Given the description of an element on the screen output the (x, y) to click on. 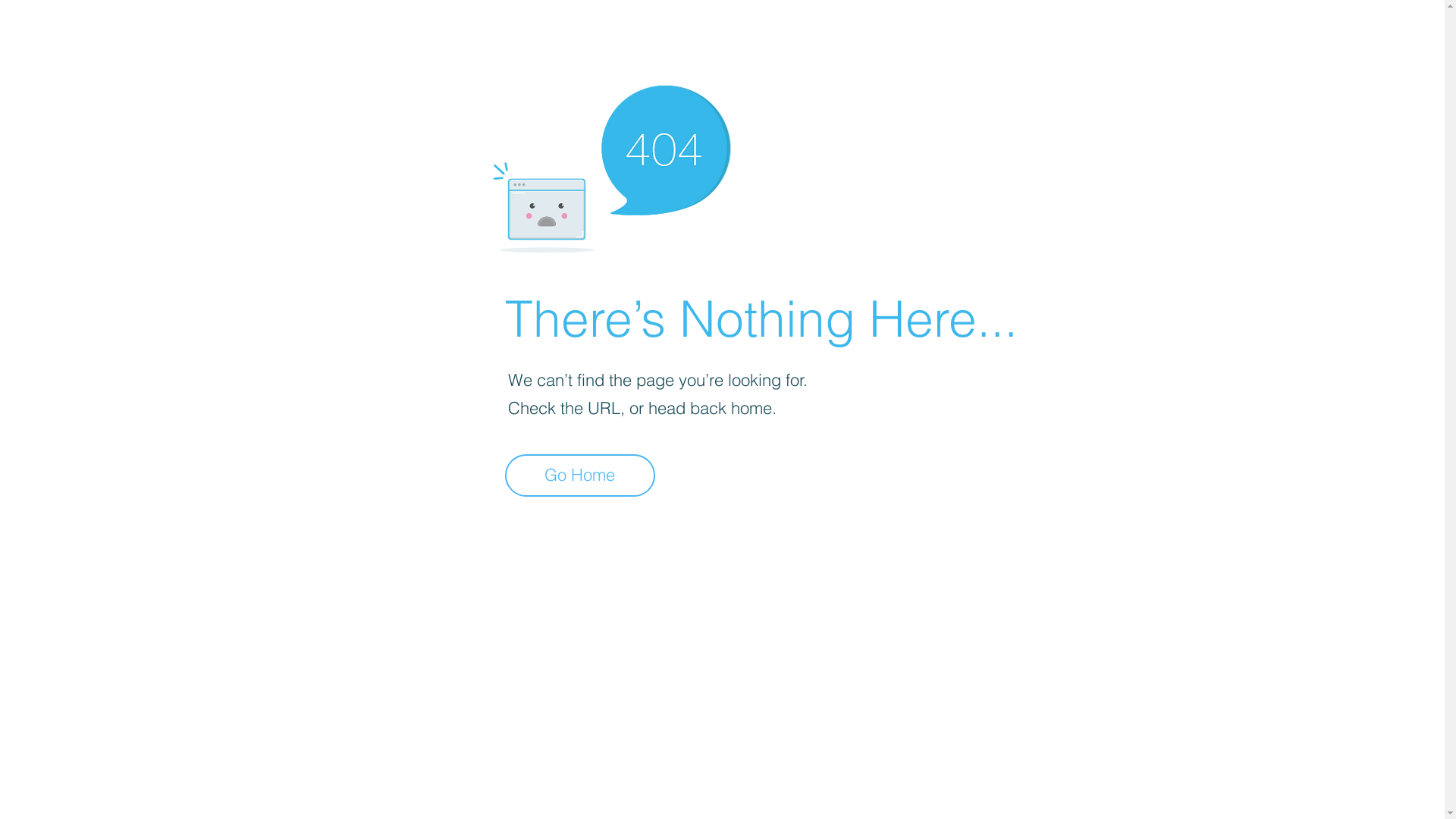
404-icon_2.png Element type: hover (610, 164)
Go Home Element type: text (580, 475)
